Given the description of an element on the screen output the (x, y) to click on. 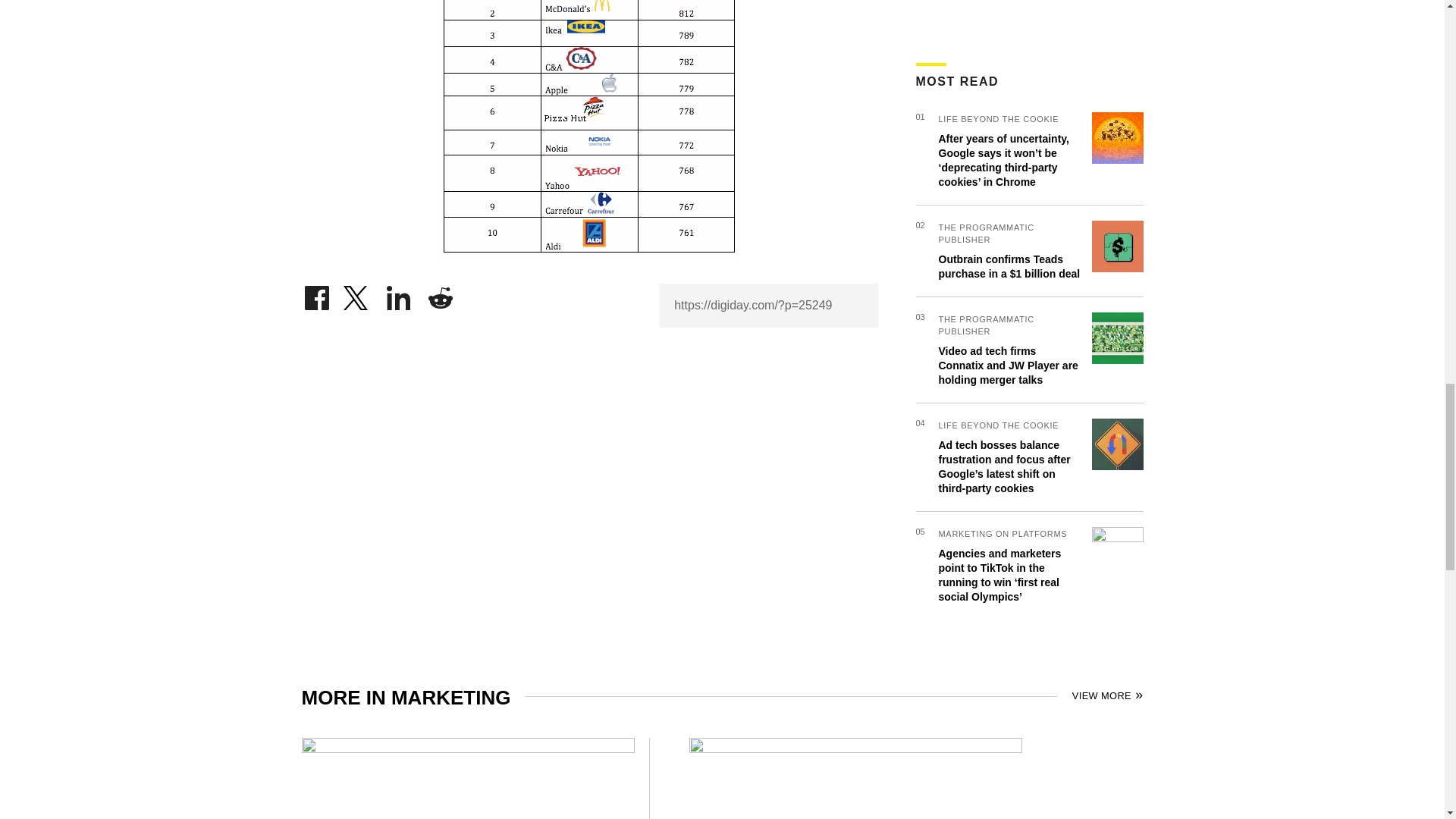
brandsimp (588, 130)
Share on LinkedIn (398, 294)
Share on Facebook (316, 294)
Share on Reddit (440, 294)
Share on Twitter (357, 294)
